Given the description of an element on the screen output the (x, y) to click on. 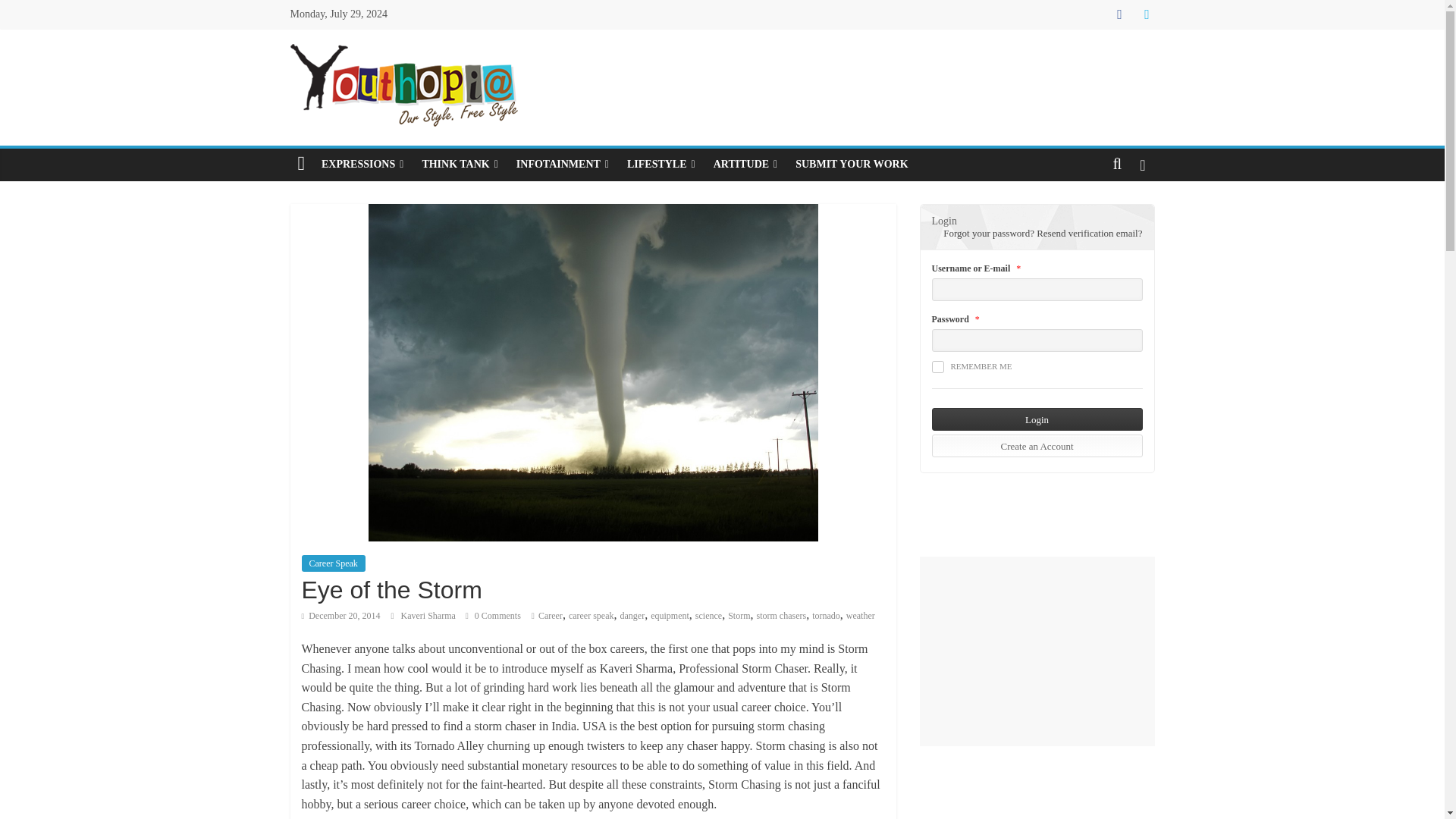
LIFESTYLE (660, 164)
EXPRESSIONS (362, 164)
THINK TANK (459, 164)
0 Comments (493, 614)
Kaveri Sharma (428, 614)
ARTITUDE (745, 164)
SUBMIT YOUR WORK (851, 164)
INFOTAINMENT (561, 164)
Login (1036, 418)
Kaveri Sharma (428, 614)
Career (550, 614)
Career Speak (333, 563)
career speak (591, 614)
9:44 am (340, 614)
Create an Account (1036, 445)
